Given the description of an element on the screen output the (x, y) to click on. 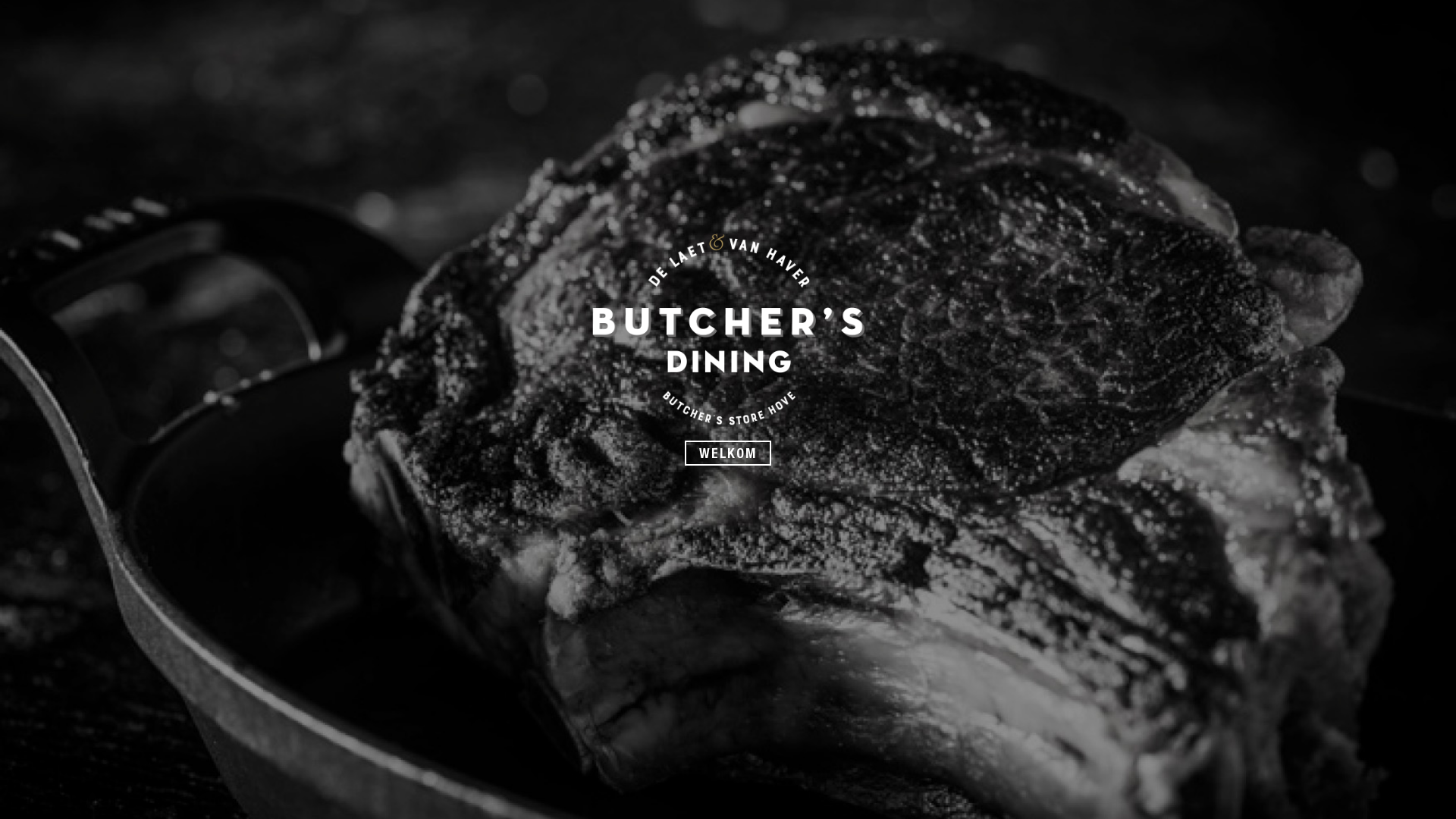
WELKOM Element type: text (727, 452)
